Given the description of an element on the screen output the (x, y) to click on. 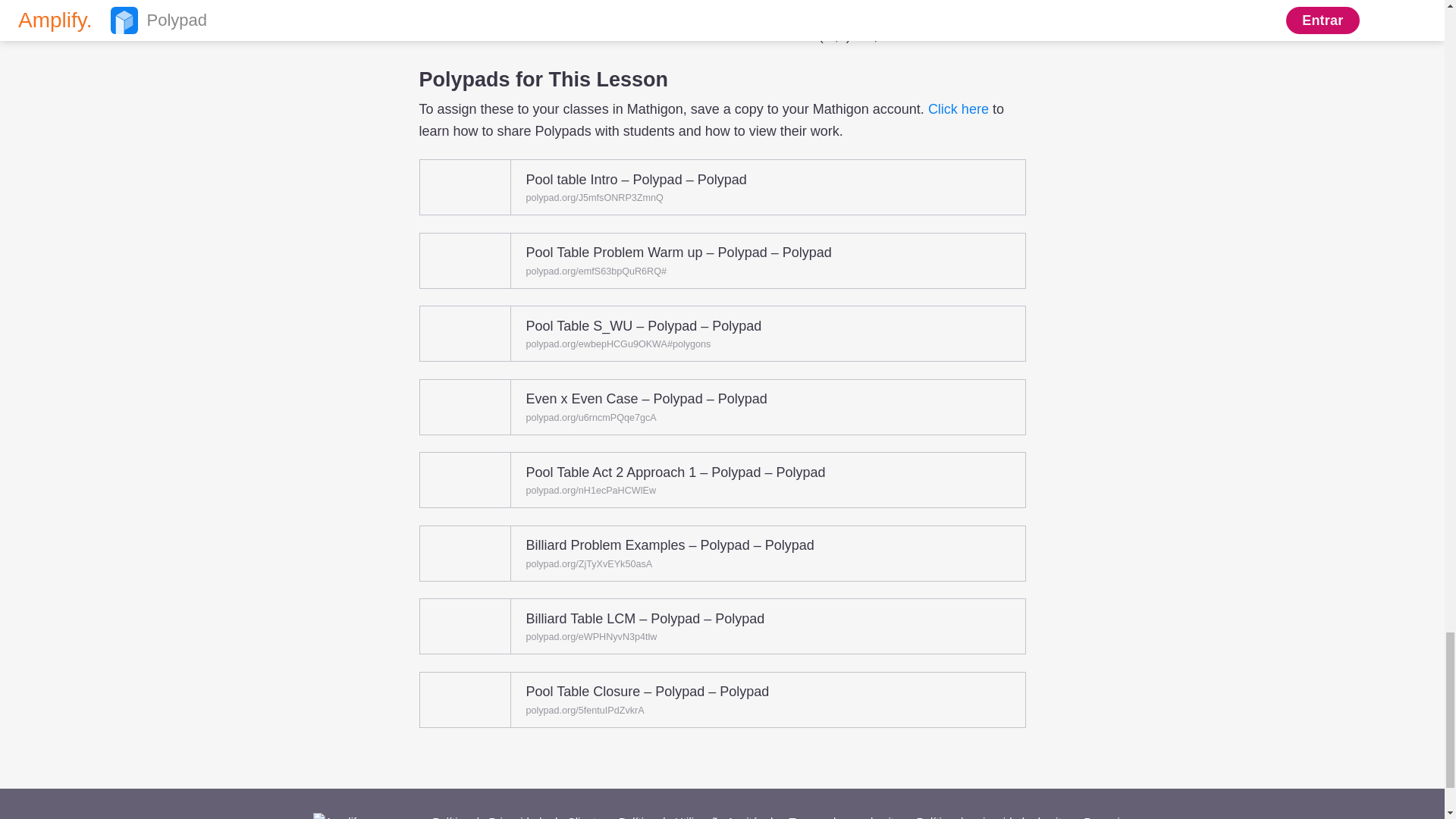
Amplify (358, 816)
